Given the description of an element on the screen output the (x, y) to click on. 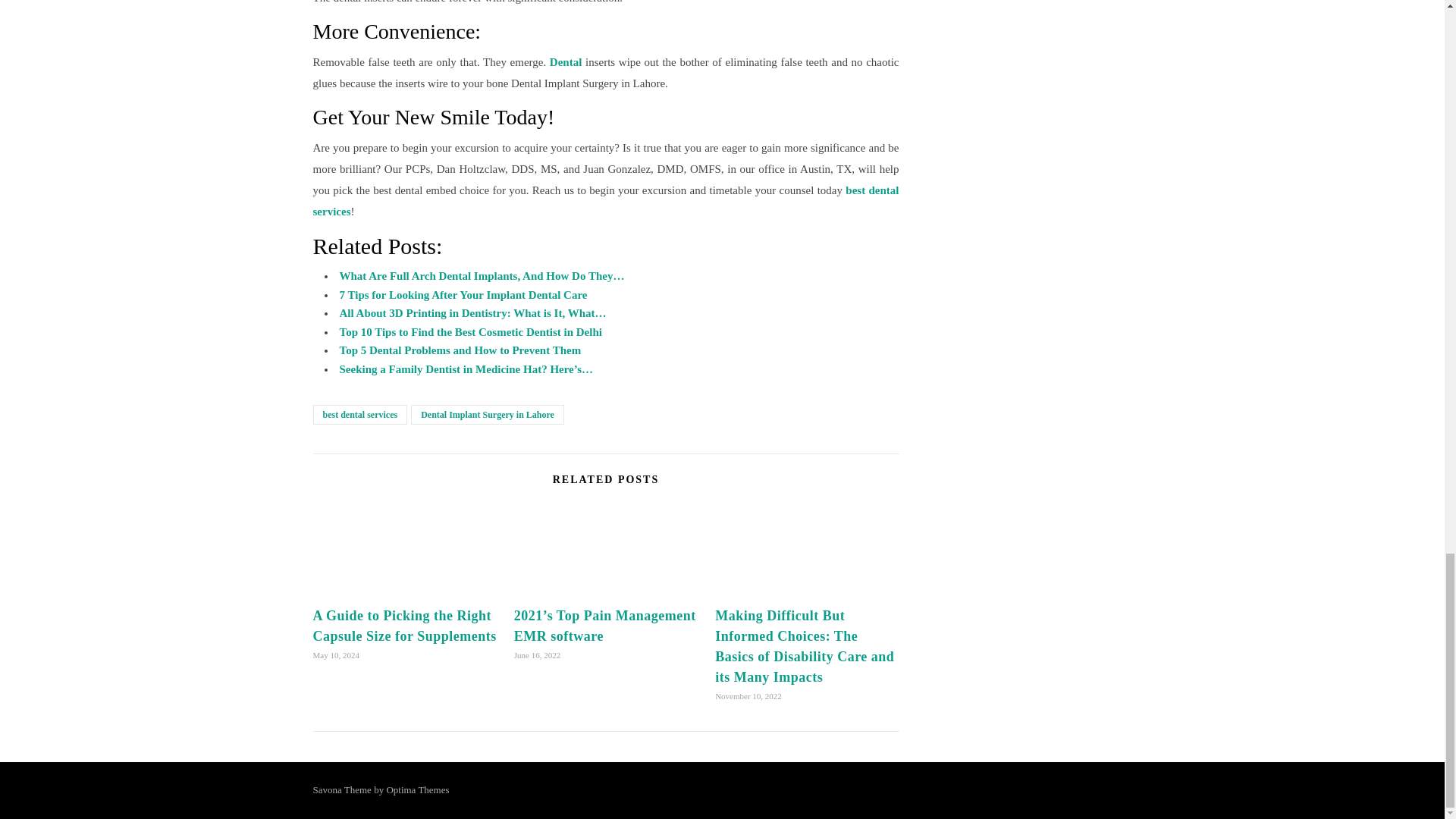
Dental (566, 61)
best dental services (605, 200)
7 Tips for Looking After Your Implant Dental Care (463, 295)
